Given the description of an element on the screen output the (x, y) to click on. 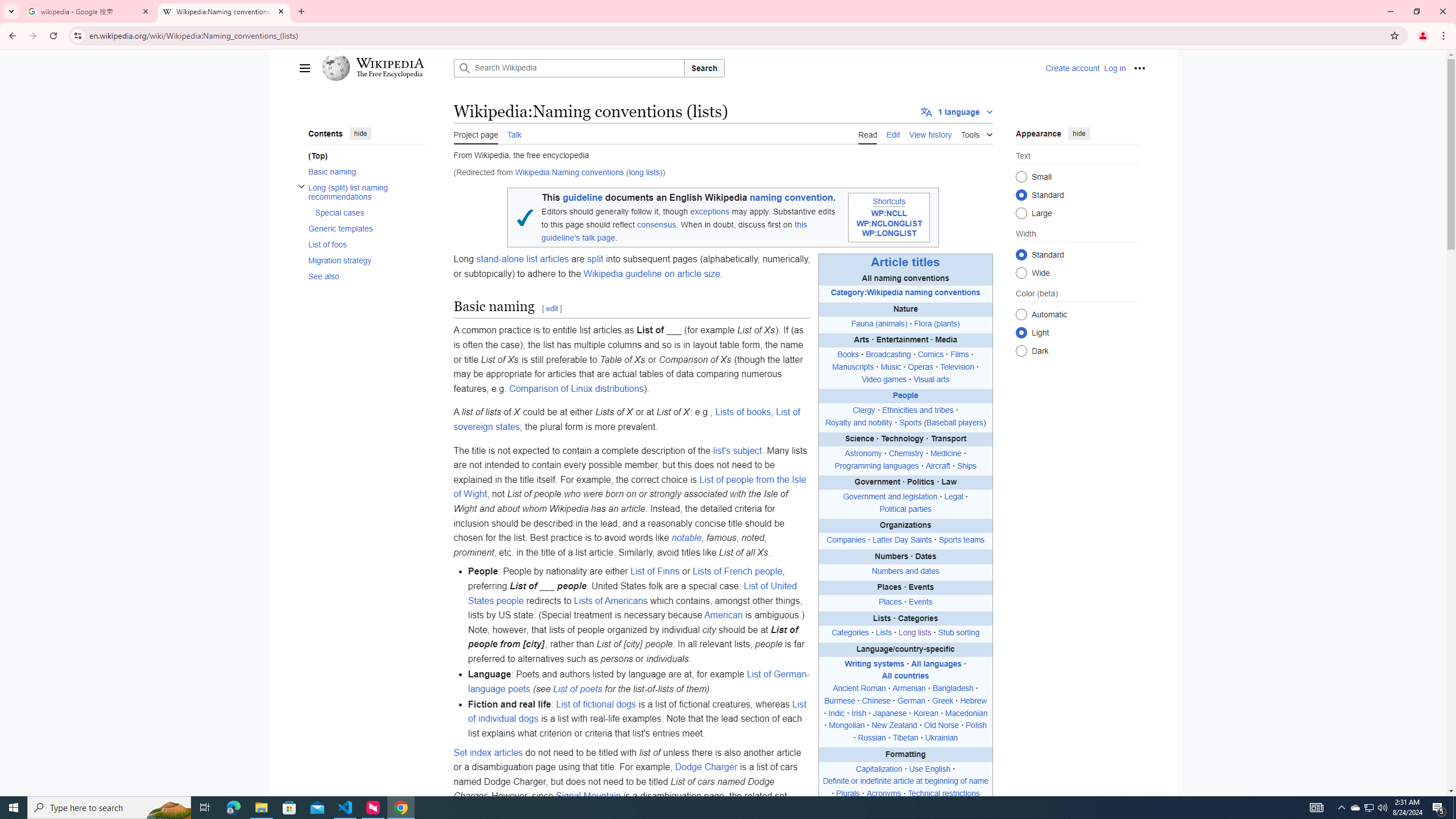
Lists of books (742, 412)
Armenian (909, 688)
AutomationID: toc-mw-content-text (365, 155)
Music (890, 366)
Wikipedia:Naming conventions (long lists) (588, 172)
Definite or indefinite article at beginning of name (905, 781)
Technical restrictions (943, 793)
Japanese (890, 712)
AutomationID: toc-Generic_templates (365, 228)
WP:NCLONGLIST (888, 222)
List of poets (577, 688)
Broadcasting (888, 354)
